Given the description of an element on the screen output the (x, y) to click on. 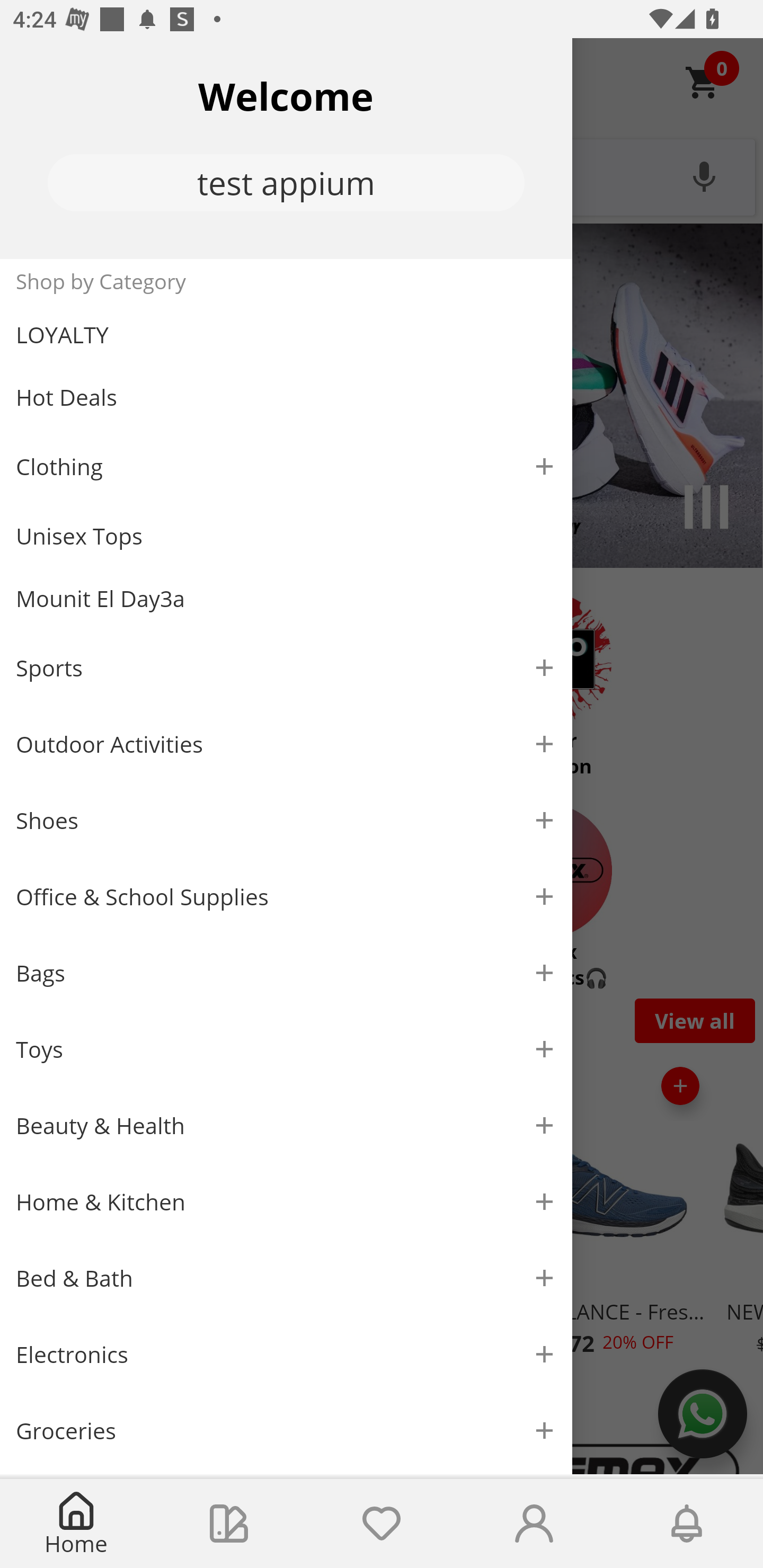
Welcome test appium (286, 147)
What are you looking for? (381, 175)
LOYALTY (286, 334)
Hot Deals (286, 396)
Clothing (286, 466)
Unisex Tops (286, 535)
Mounit El Day3a (286, 598)
Sports (286, 667)
Outdoor Activities (286, 743)
Shoes (286, 820)
Office & School Supplies (286, 896)
Bags (286, 972)
Toys (286, 1049)
Beauty & Health (286, 1125)
Home & Kitchen (286, 1201)
Bed & Bath (286, 1278)
Electronics (286, 1354)
Groceries (286, 1430)
Collections (228, 1523)
Wishlist (381, 1523)
Account (533, 1523)
Notifications (686, 1523)
